Given the description of an element on the screen output the (x, y) to click on. 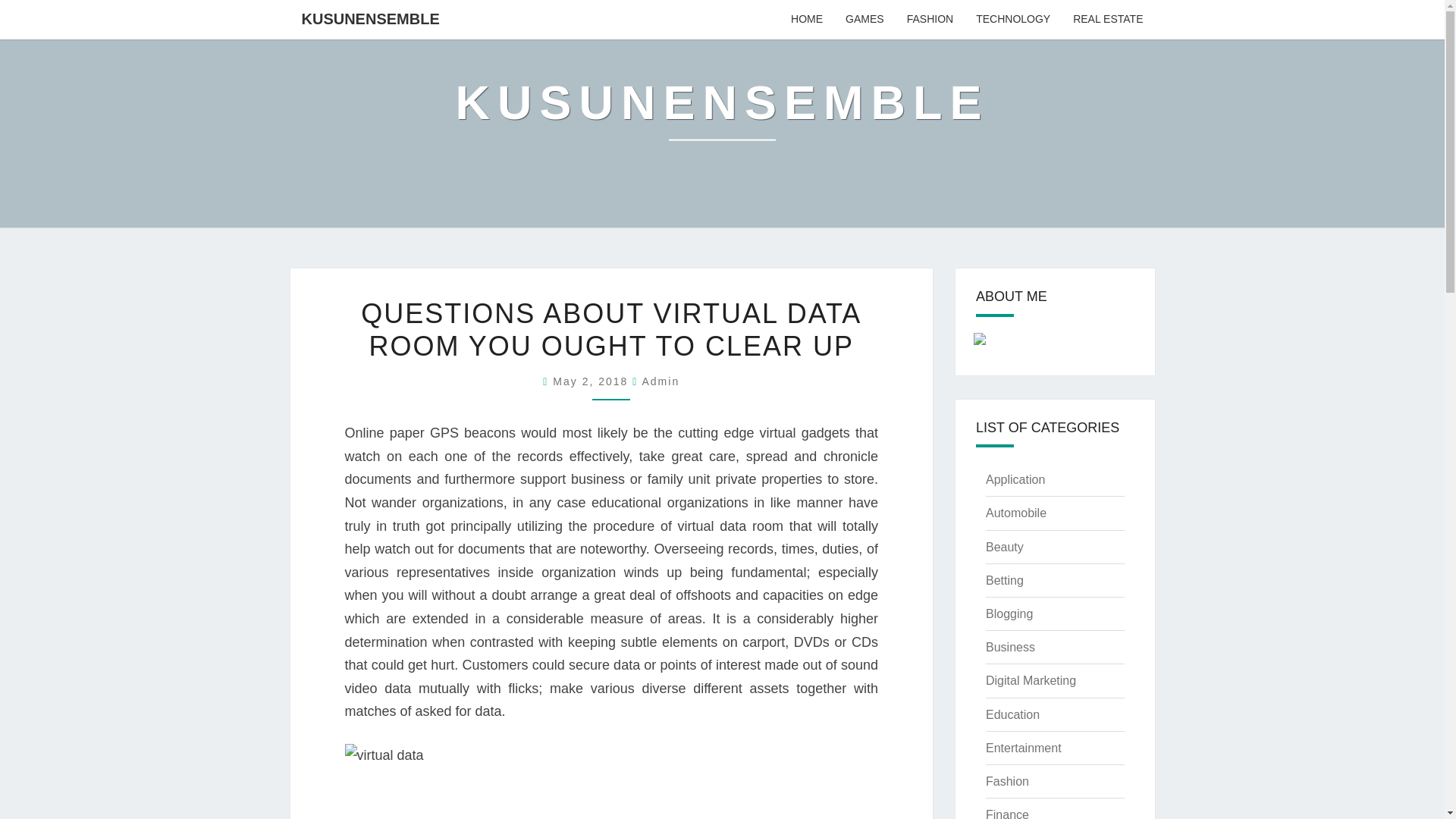
Finance (1007, 813)
Admin (660, 381)
KUSUNENSEMBLE (369, 18)
Business (1010, 646)
4:00 pm (592, 381)
Entertainment (1023, 748)
Kusunensemble (721, 113)
REAL ESTATE (1107, 19)
KUSUNENSEMBLE (721, 113)
Automobile (1015, 512)
Blogging (1008, 613)
May 2, 2018 (592, 381)
HOME (806, 19)
Education (1012, 714)
Beauty (1004, 546)
